Given the description of an element on the screen output the (x, y) to click on. 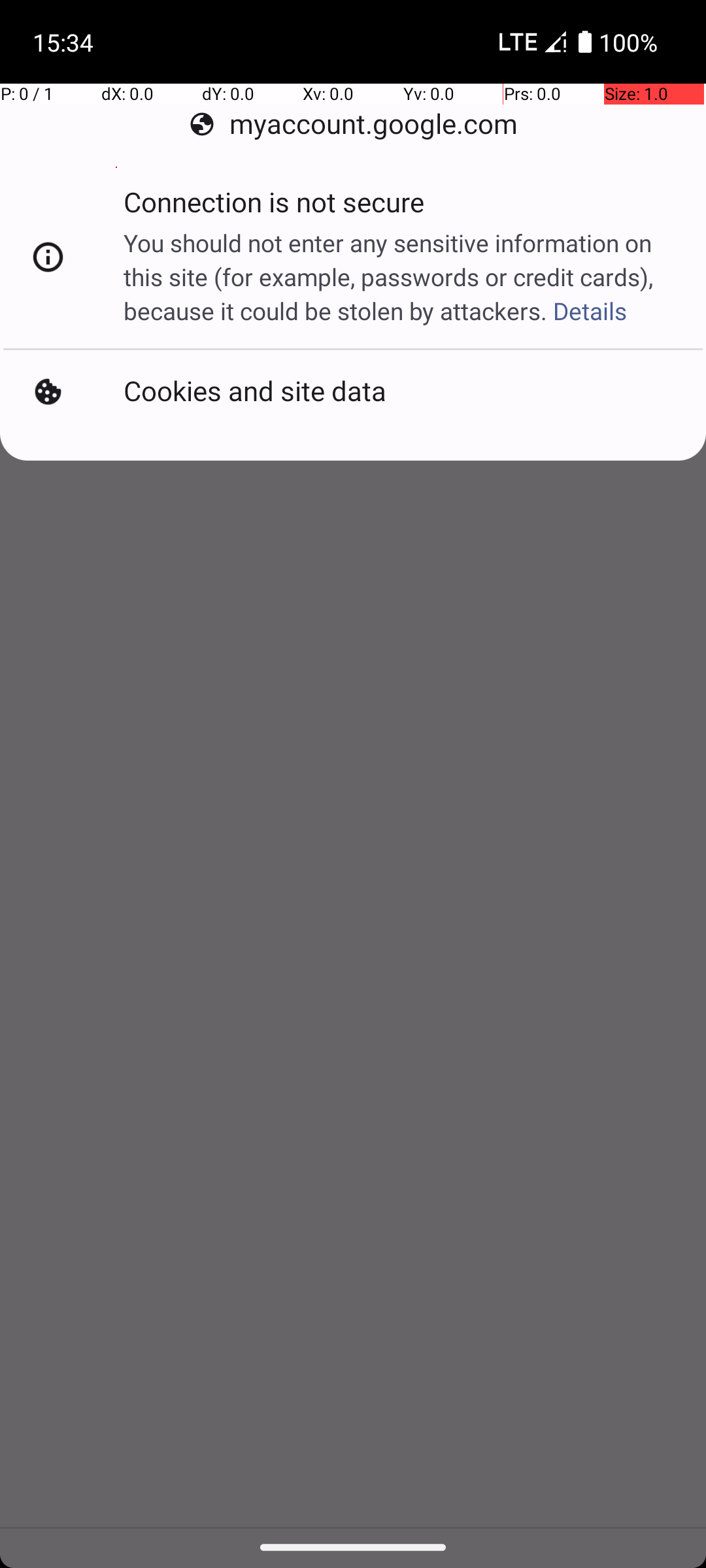
myaccount.google.com Element type: android.widget.TextView (352, 124)
